Given the description of an element on the screen output the (x, y) to click on. 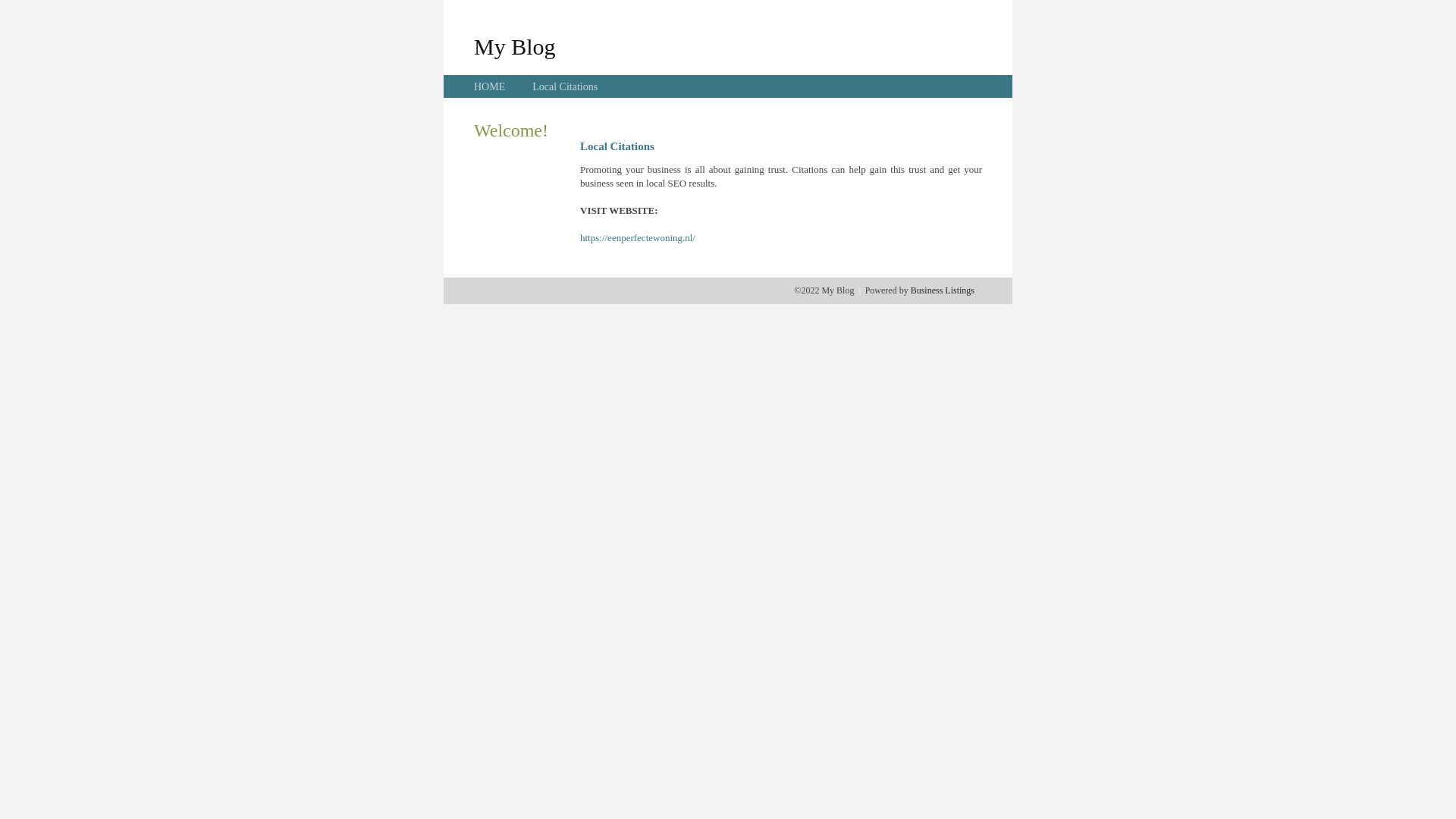
Business Listings Element type: text (942, 290)
Local Citations Element type: text (564, 86)
https://eenperfectewoning.nl/ Element type: text (637, 237)
HOME Element type: text (489, 86)
My Blog Element type: text (514, 46)
